Given the description of an element on the screen output the (x, y) to click on. 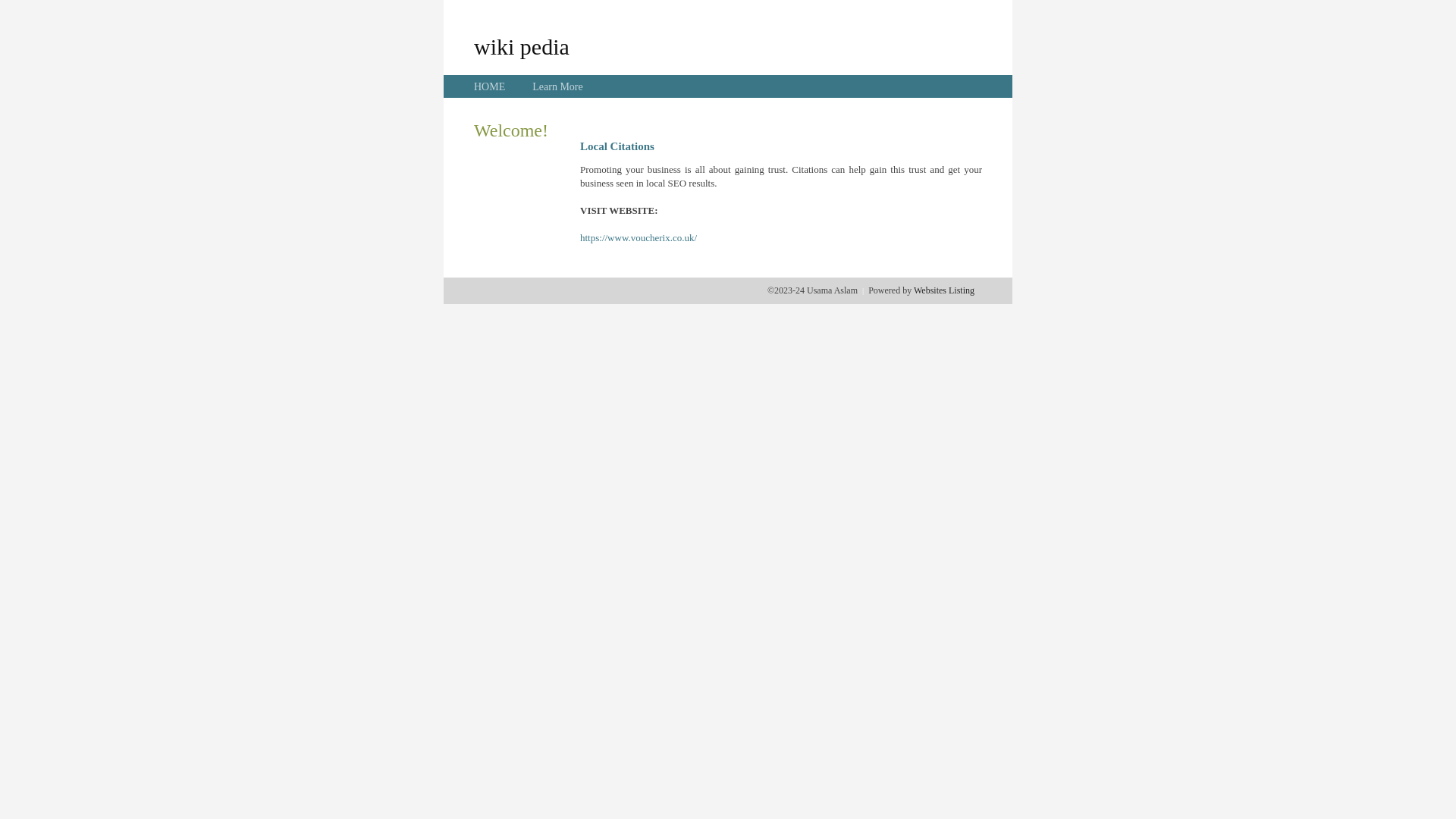
https://www.voucherix.co.uk/ Element type: text (638, 237)
Learn More Element type: text (557, 86)
HOME Element type: text (489, 86)
Websites Listing Element type: text (943, 290)
wiki pedia Element type: text (521, 46)
